Given the description of an element on the screen output the (x, y) to click on. 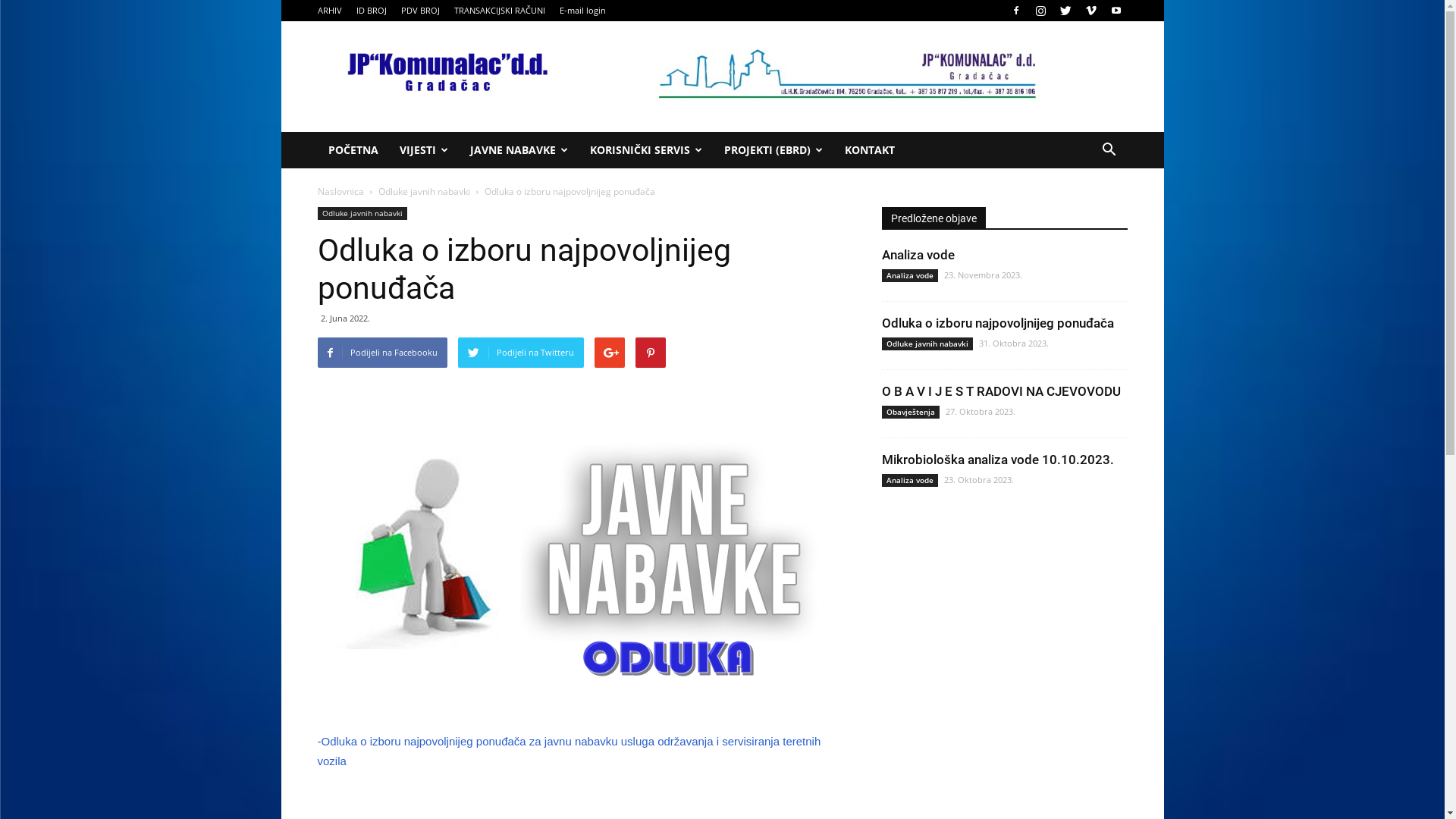
VIJESTI Element type: text (423, 149)
ARHIV Element type: text (328, 9)
Odluke javnih nabavki Element type: text (361, 213)
PROJEKTI (EBRD) Element type: text (772, 149)
Naslovnica Element type: text (339, 191)
JAVNE NABAVKE Element type: text (519, 149)
KONTAKT Element type: text (869, 149)
javnenabavke Element type: hover (569, 547)
PDV BROJ Element type: text (419, 9)
E-mail login Element type: text (582, 9)
Odluke javnih nabavki Element type: text (423, 191)
Analiza vode Element type: text (909, 275)
ID BROJ Element type: text (371, 9)
O B A V I J E S T RADOVI NA CJEVOVODU Element type: text (1000, 390)
Podijeli na Facebooku Element type: text (381, 352)
Youtube Element type: hover (1115, 10)
Twitter Element type: hover (1065, 10)
Analiza vode Element type: text (917, 254)
Instagram Element type: hover (1040, 10)
Vimeo Element type: hover (1090, 10)
Facebook Element type: hover (1015, 10)
Analiza vode Element type: text (909, 479)
Odluke javnih nabavki Element type: text (926, 343)
Podijeli na Twitteru Element type: text (520, 352)
